Given the description of an element on the screen output the (x, y) to click on. 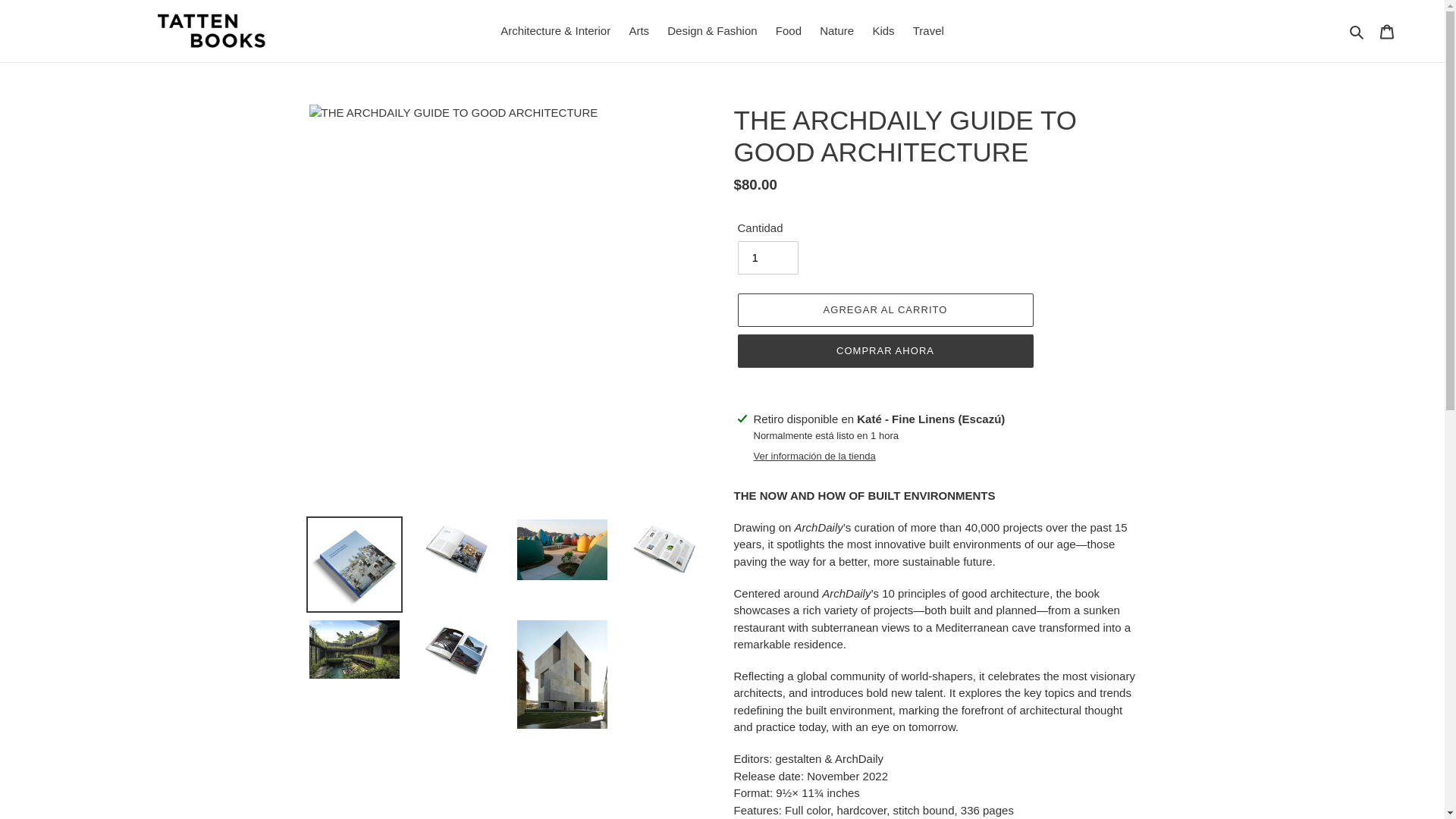
AGREGAR AL CARRITO (884, 309)
Kids (882, 31)
Buscar (1357, 31)
Food (788, 31)
COMPRAR AHORA (884, 350)
Carrito (1387, 31)
Travel (928, 31)
1 (766, 257)
Arts (638, 31)
Nature (836, 31)
